Given the description of an element on the screen output the (x, y) to click on. 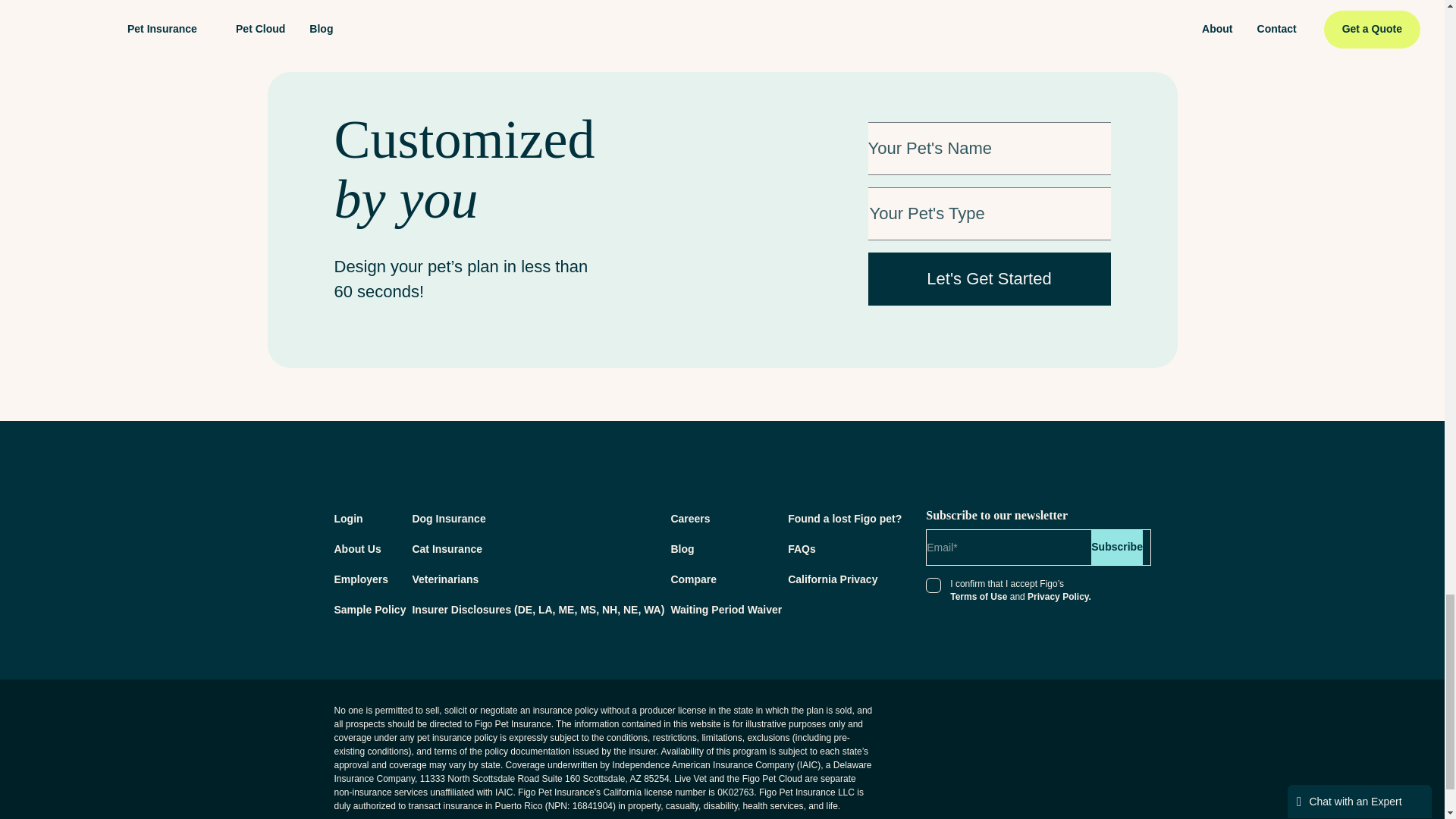
opens in a new window  (982, 721)
Terms of Use (978, 596)
Privacy Policy. (1058, 596)
opens in a new window  (1091, 721)
opens in a new window  (347, 518)
Waiting Period Waiver (725, 609)
Blog (681, 548)
Dog Insurance (448, 518)
opens in a new window  (689, 518)
About Us (356, 548)
